Given the description of an element on the screen output the (x, y) to click on. 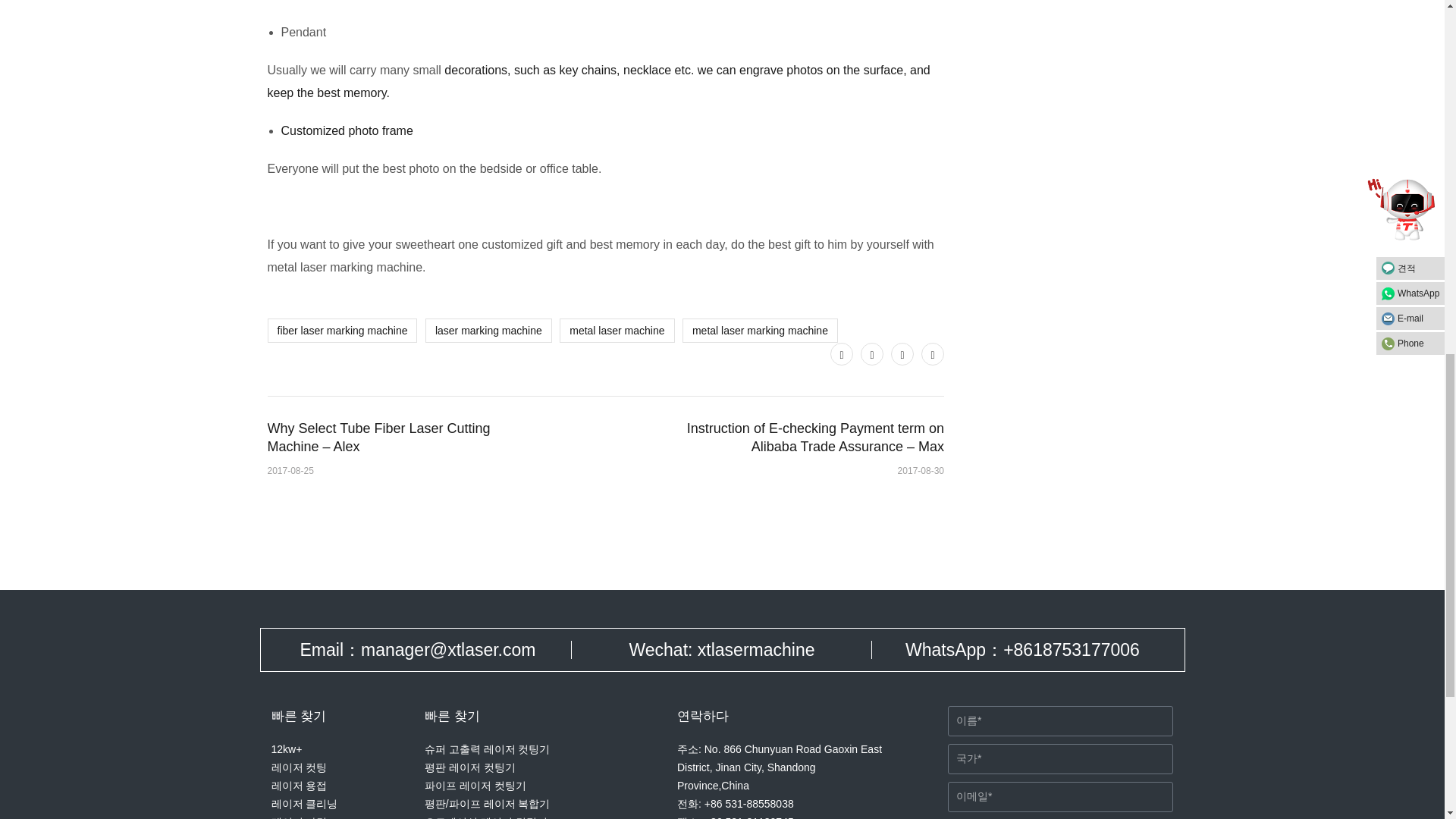
Pinterest (902, 354)
LinkedIn (932, 354)
Facebook (871, 354)
Twitter (841, 354)
